Given the description of an element on the screen output the (x, y) to click on. 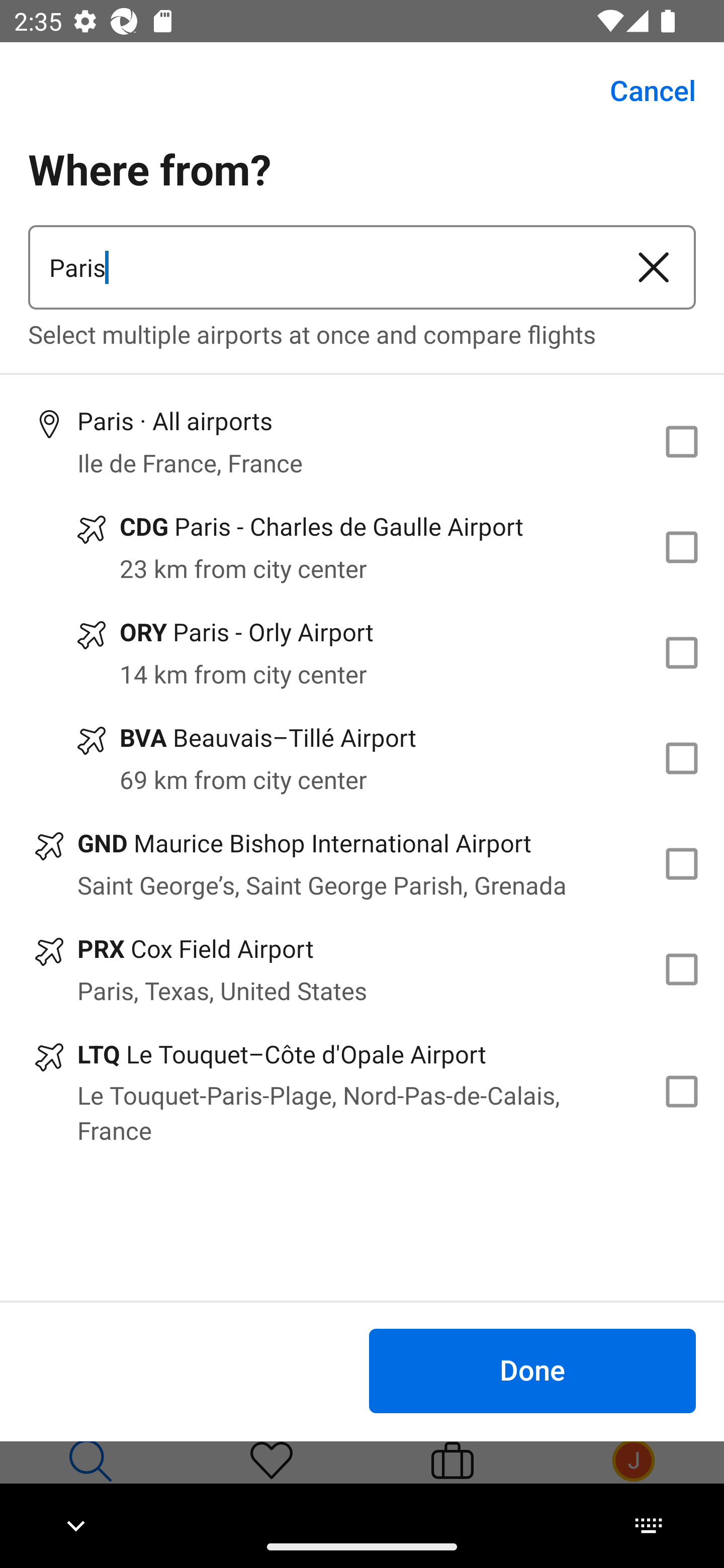
Cancel (641, 90)
Paris (319, 266)
Clear airport or city (653, 266)
Paris · All airports Ile de France, France (362, 440)
ORY Paris - Orly Airport 14 km from city center (362, 652)
BVA Beauvais–Tillé Airport 69 km from city center (362, 757)
PRX Cox Field Airport Paris, Texas, United States (362, 969)
Done (532, 1370)
